Given the description of an element on the screen output the (x, y) to click on. 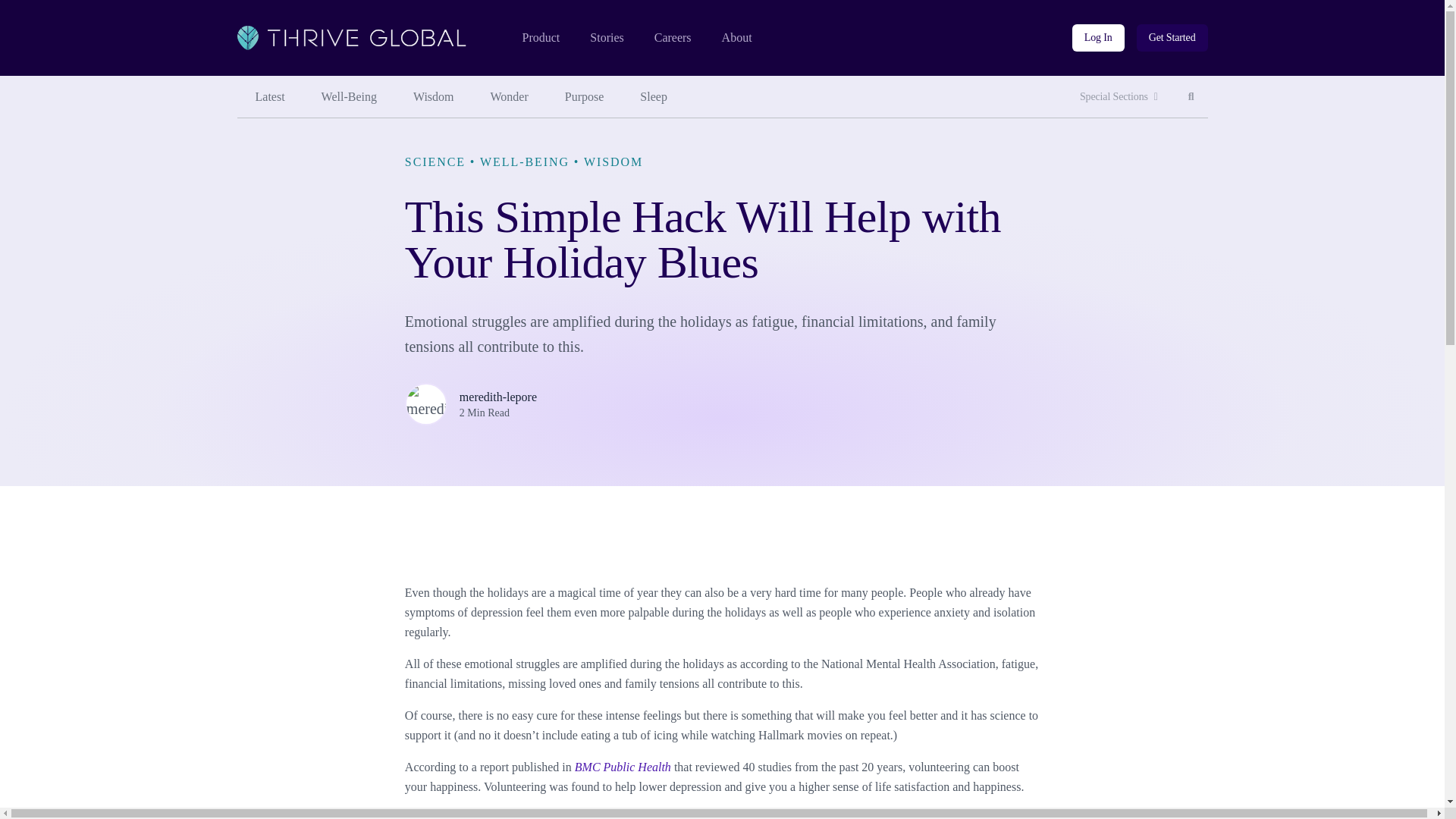
Well-Being (1191, 97)
Sleep (348, 96)
Get Started (653, 96)
Search site (1172, 37)
Careers (1190, 96)
Wisdom (672, 37)
Purpose (432, 96)
Latest (585, 96)
About (268, 96)
Wonder (737, 37)
Product (509, 96)
Stories (540, 37)
Special Sections (606, 37)
Log In (1118, 97)
